Given the description of an element on the screen output the (x, y) to click on. 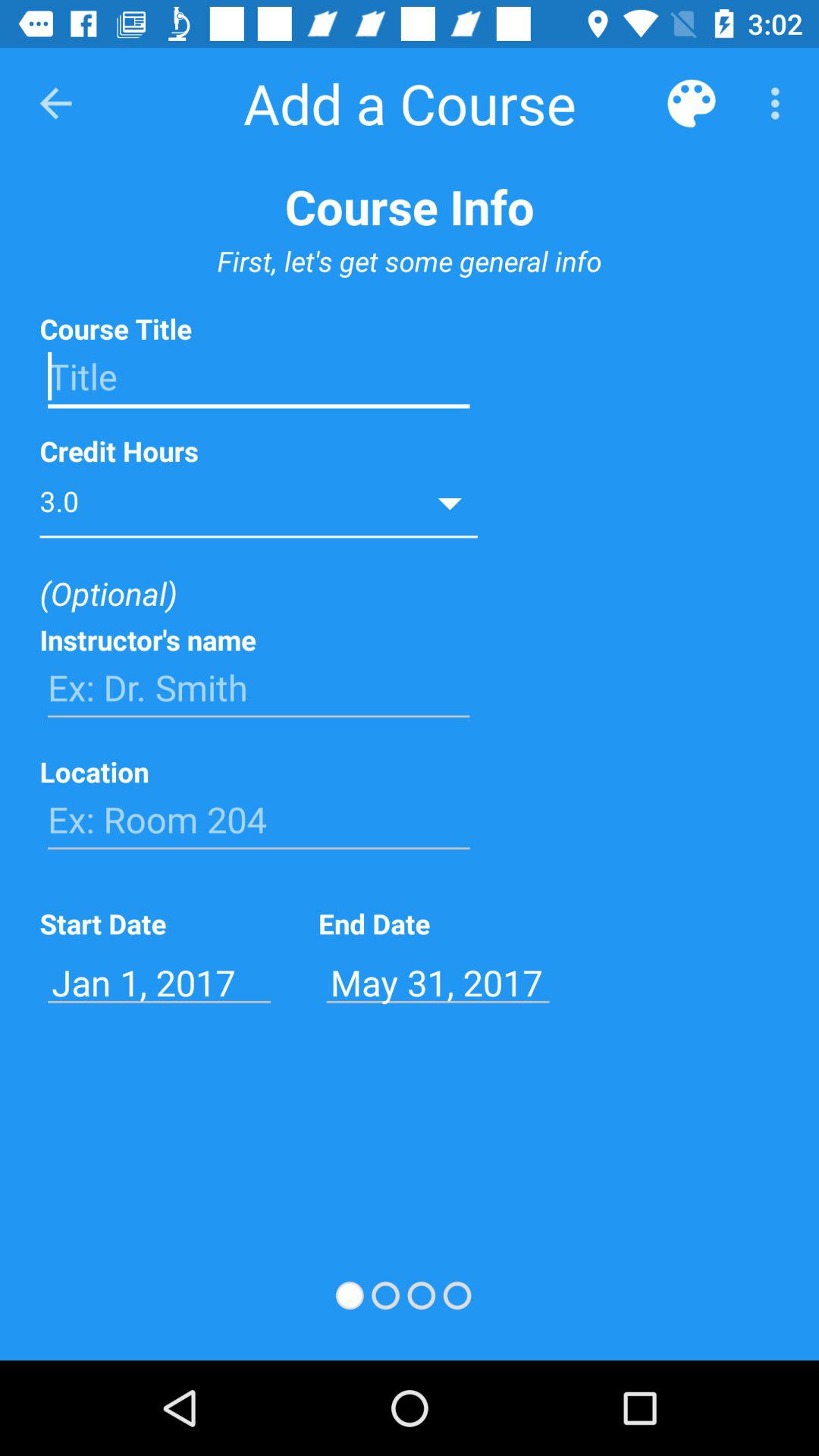
select the three dots present at right side corner (779, 103)
go to the title (258, 376)
select the date jan 12017 (159, 981)
select the text ex room 204 (258, 819)
